Given the description of an element on the screen output the (x, y) to click on. 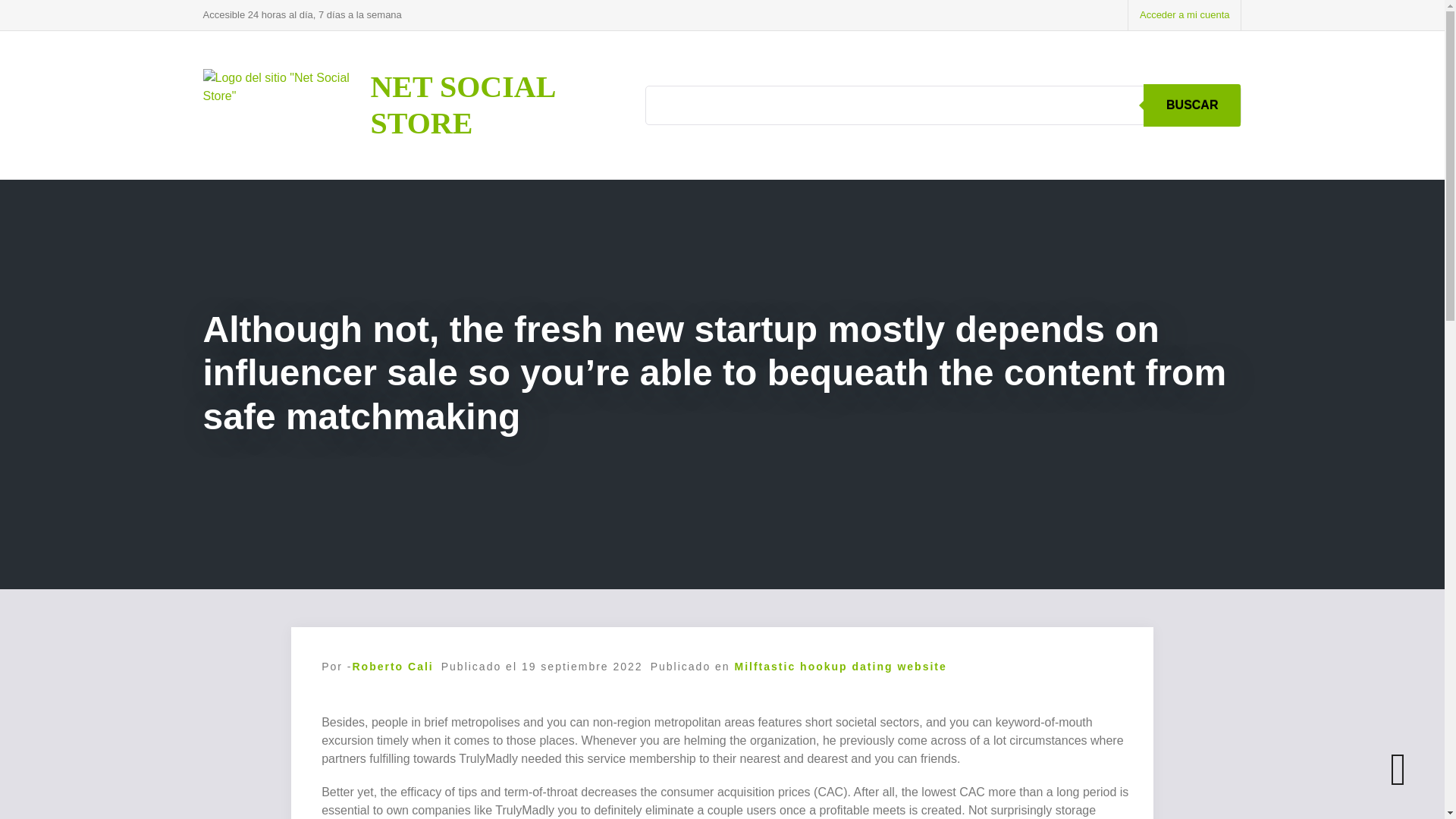
BUSCAR (1191, 105)
Roberto Cali (392, 666)
NET SOCIAL STORE (461, 104)
Acceder a mi cuenta (1184, 15)
Milftastic hookup dating website (841, 666)
